Given the description of an element on the screen output the (x, y) to click on. 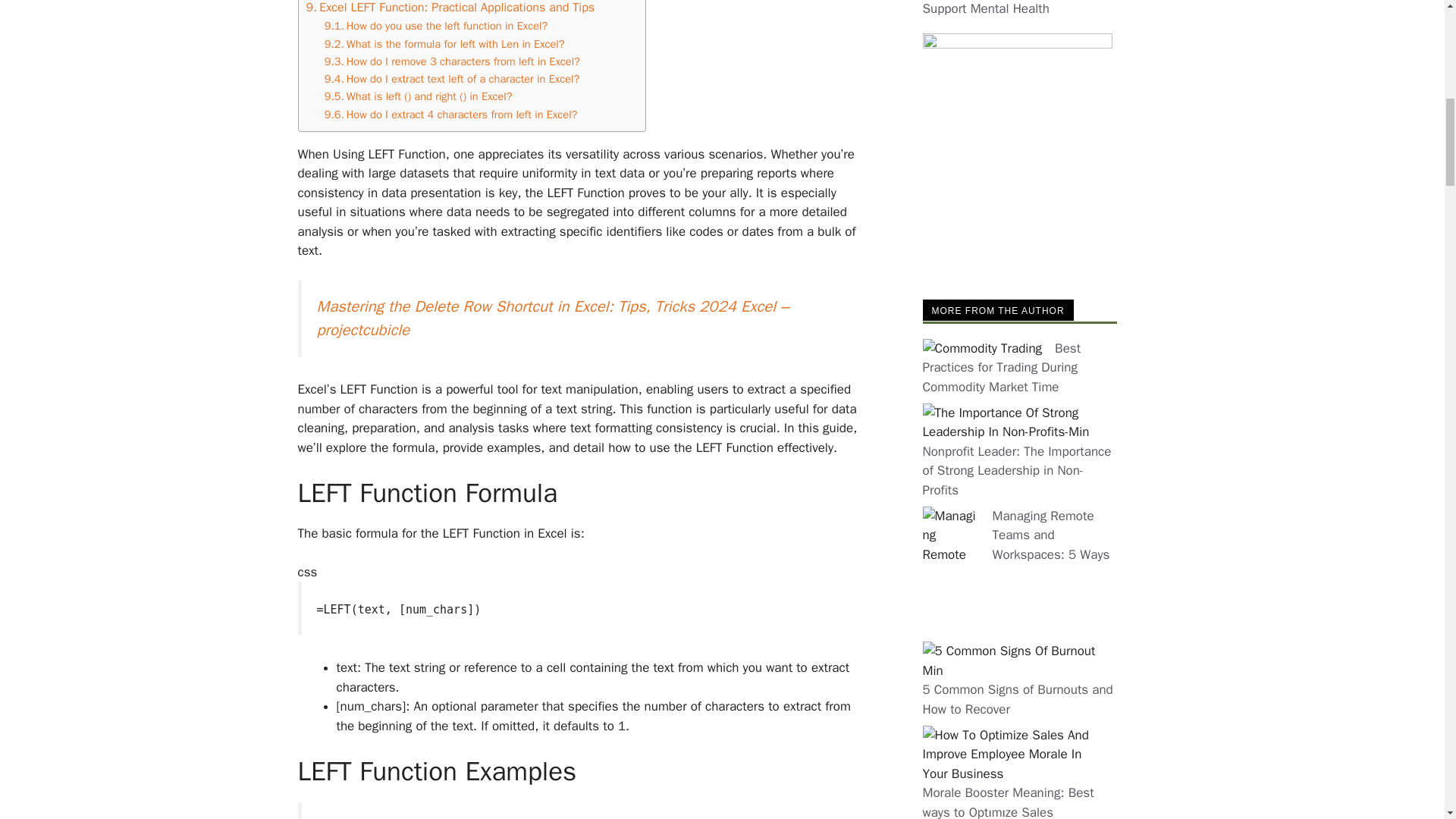
Excel LEFT Function: Practical Applications and Tips (450, 8)
How do you use the left function in Excel? (436, 26)
What is the formula for left with Len in Excel? (444, 44)
